Given the description of an element on the screen output the (x, y) to click on. 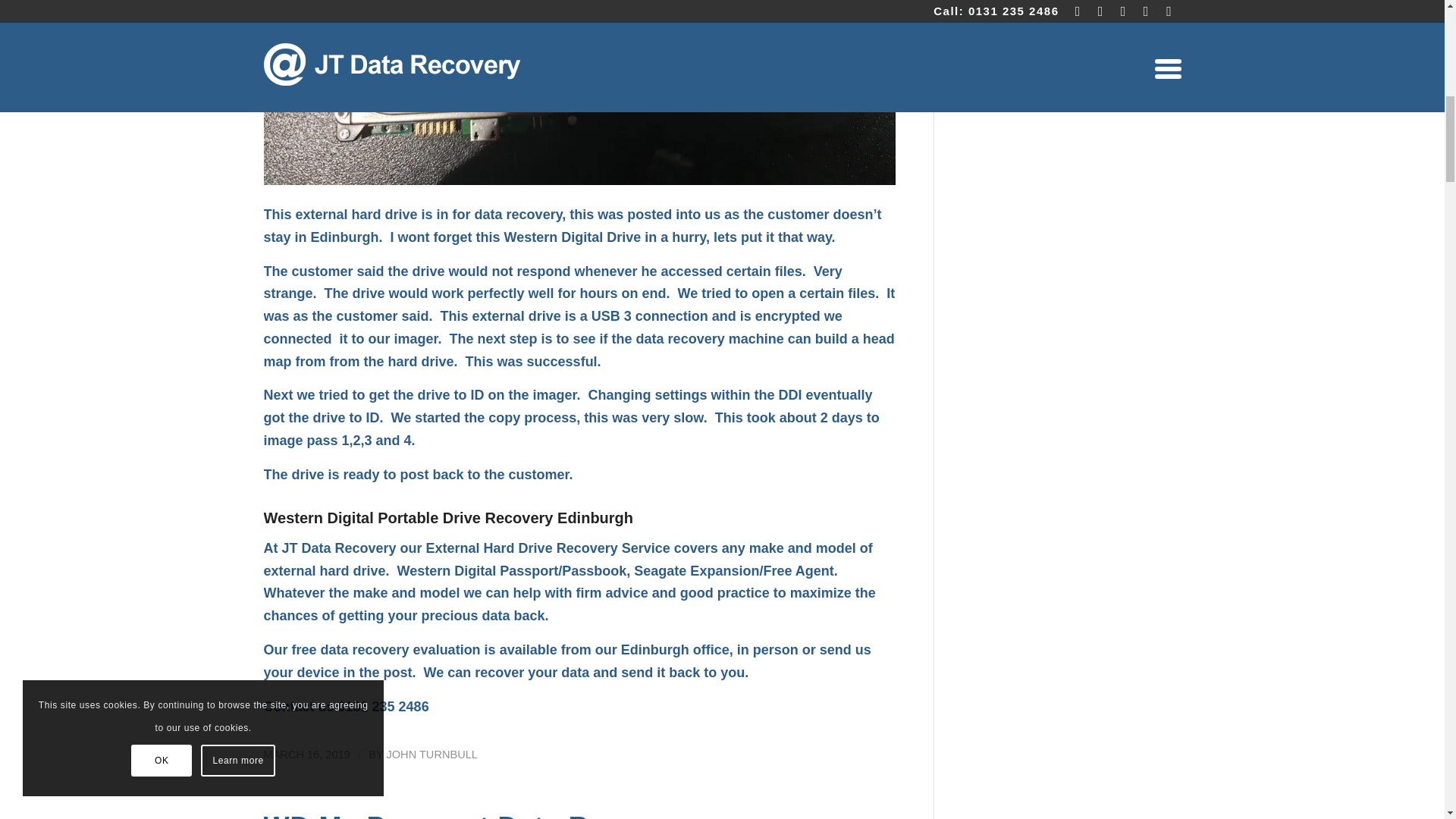
JOHN TURNBULL (431, 754)
Posts by John Turnbull (431, 754)
Contact us (298, 706)
hard drive (384, 214)
Permanent Link: WD My Passport Data Recovery (480, 815)
WD My Passport Data Recovery (480, 815)
Western Digital Drive (571, 237)
